Given the description of an element on the screen output the (x, y) to click on. 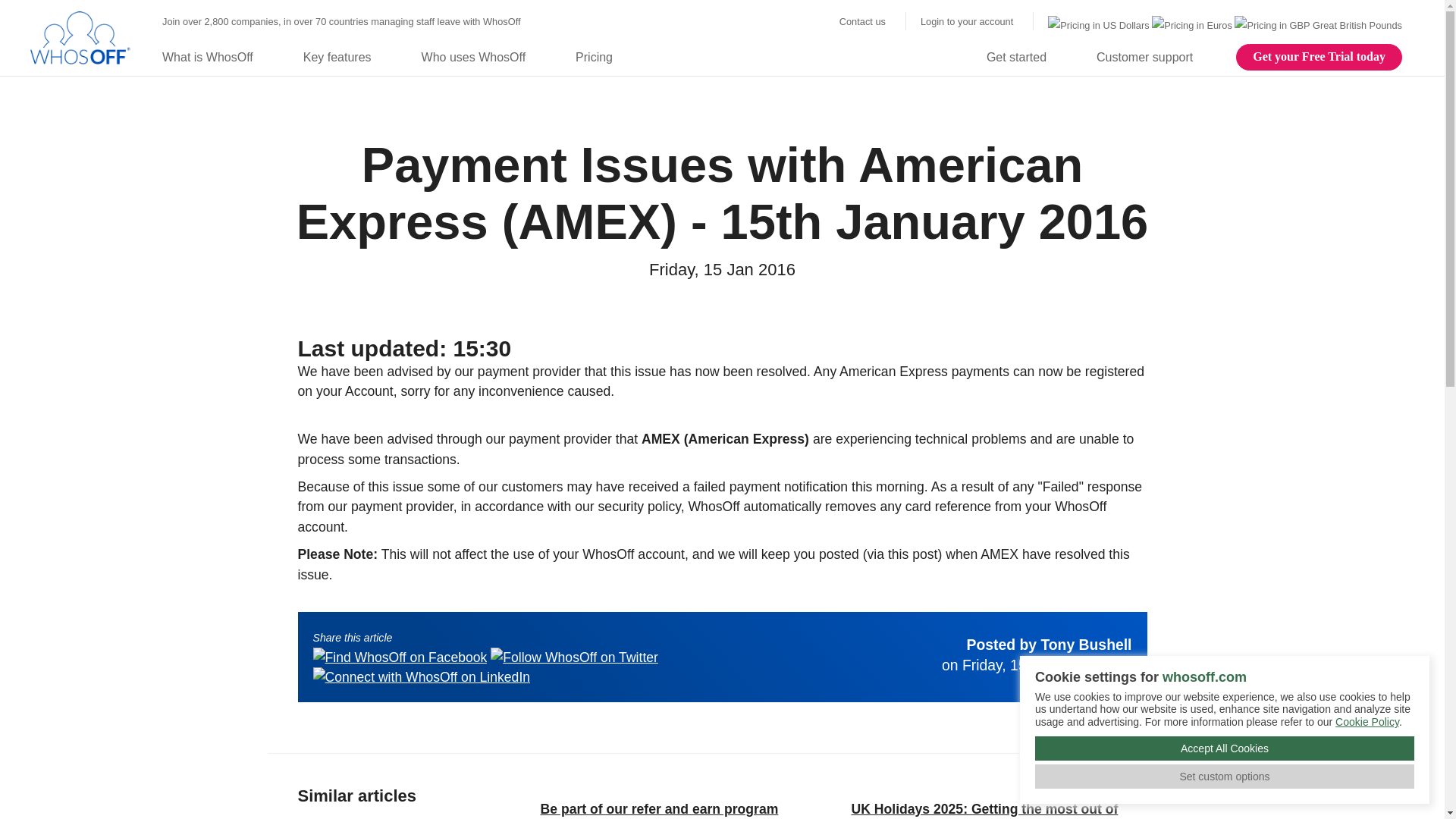
Get your Free Trial today (1319, 56)
Who uses WhosOff (484, 57)
What is WhosOff (217, 57)
Set custom options (1224, 776)
Key features (346, 57)
Get started (1026, 57)
Customer support (1154, 57)
Contact us (862, 21)
Login to your account (966, 21)
